Given the description of an element on the screen output the (x, y) to click on. 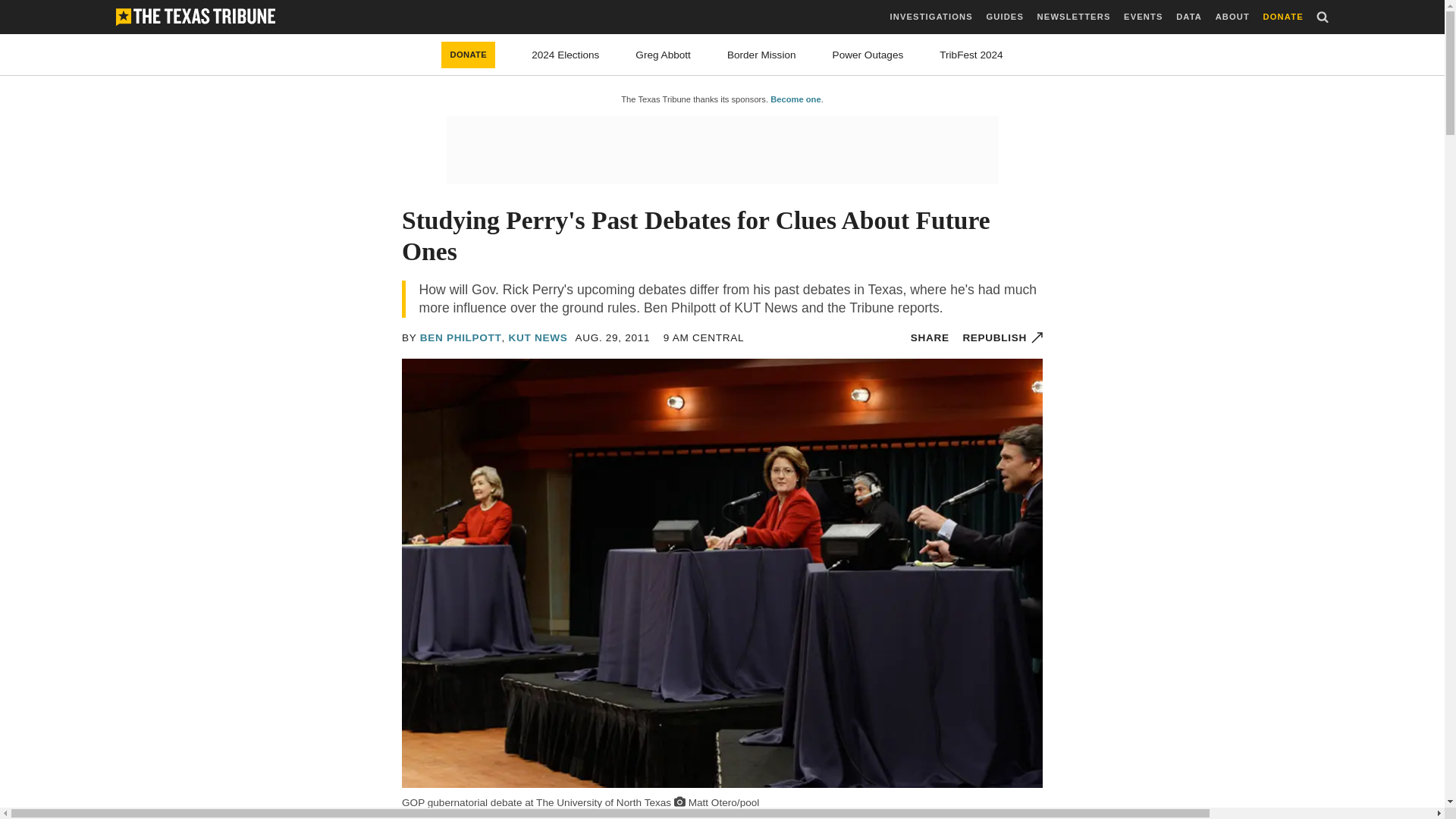
2024 Elections (564, 54)
Greg Abbott (662, 54)
DONATE (468, 54)
EVENTS (1142, 17)
TribFest 2024 (971, 54)
NEWSLETTERS (1073, 17)
2011-08-29 09:59 CDT (703, 337)
KUT NEWS (537, 337)
ABOUT (1232, 17)
DONATE (1283, 17)
Become one (795, 99)
GUIDES (1004, 17)
3rd party ad content (721, 150)
2011-08-29 09:59 CDT (612, 337)
INVESTIGATIONS (930, 17)
